Given the description of an element on the screen output the (x, y) to click on. 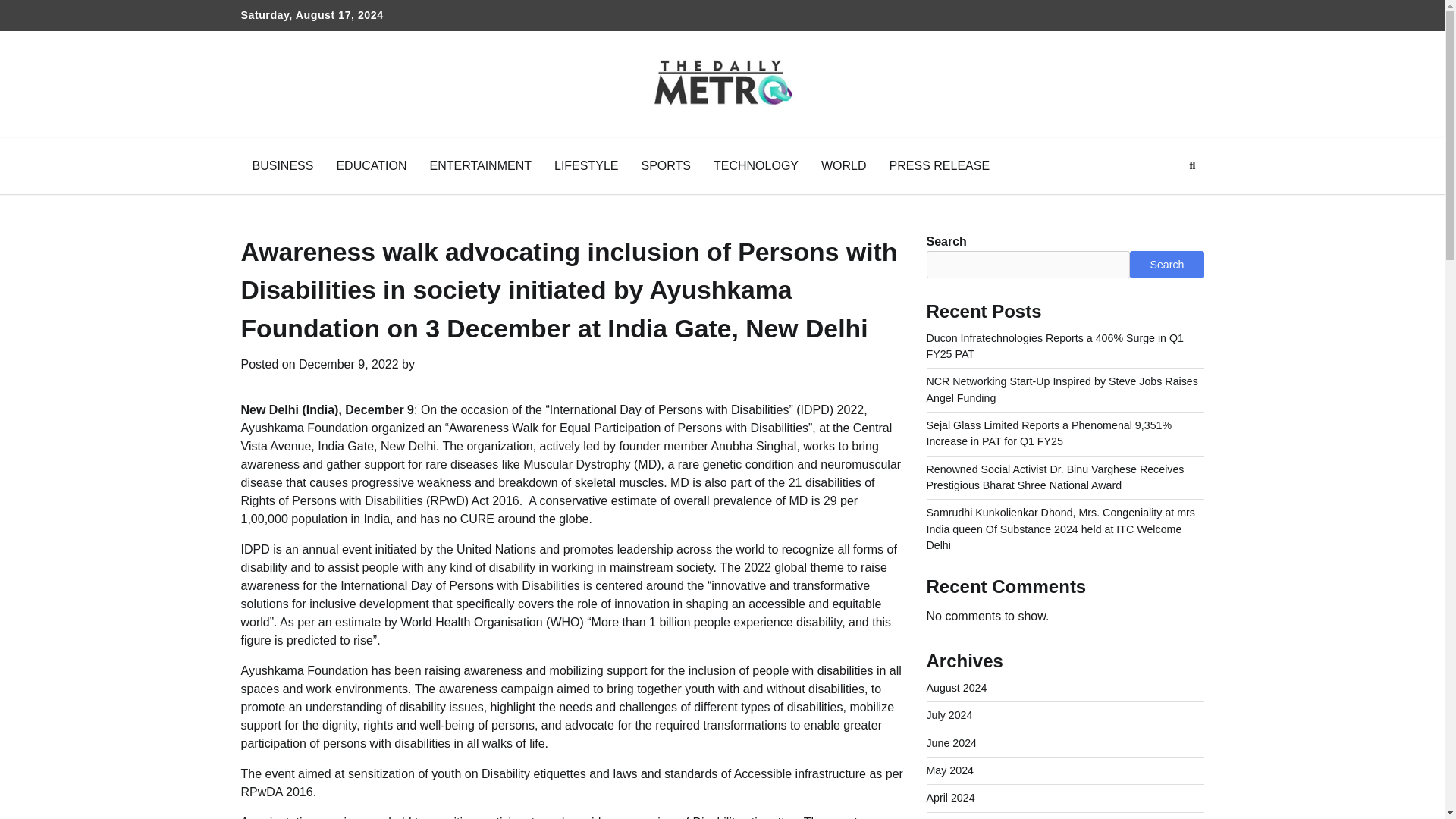
TECHNOLOGY (755, 165)
Search (1164, 201)
ENTERTAINMENT (480, 165)
WORLD (843, 165)
SPORTS (664, 165)
Search (1166, 264)
December 9, 2022 (348, 364)
BUSINESS (282, 165)
